Given the description of an element on the screen output the (x, y) to click on. 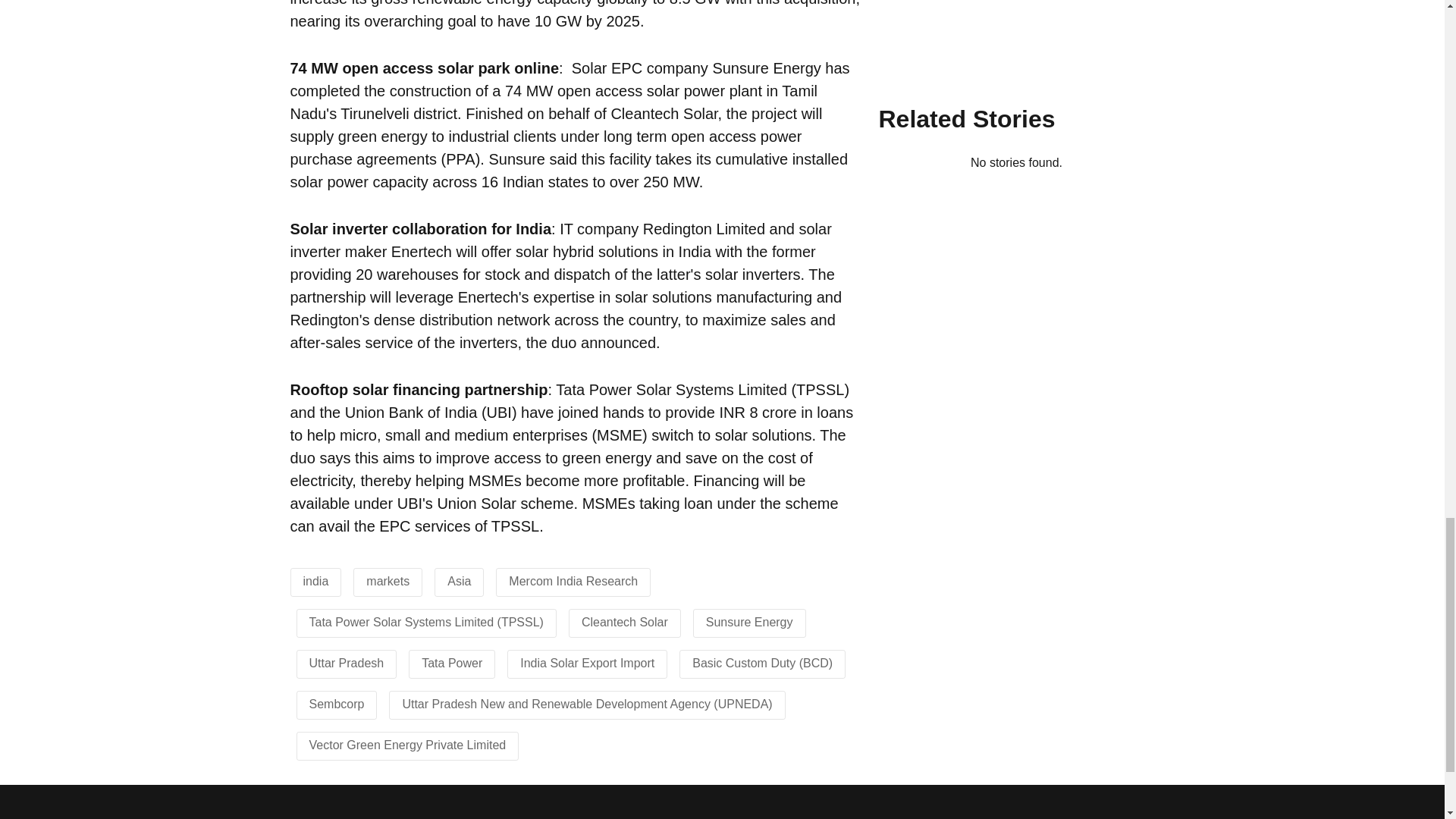
Cleantech Solar (624, 621)
Tata Power (451, 662)
Asia (458, 581)
Mercom India Research (572, 581)
Sunsure Energy (749, 621)
India Solar Export Import (586, 662)
india (315, 581)
Uttar Pradesh (346, 662)
markets (387, 581)
